Given the description of an element on the screen output the (x, y) to click on. 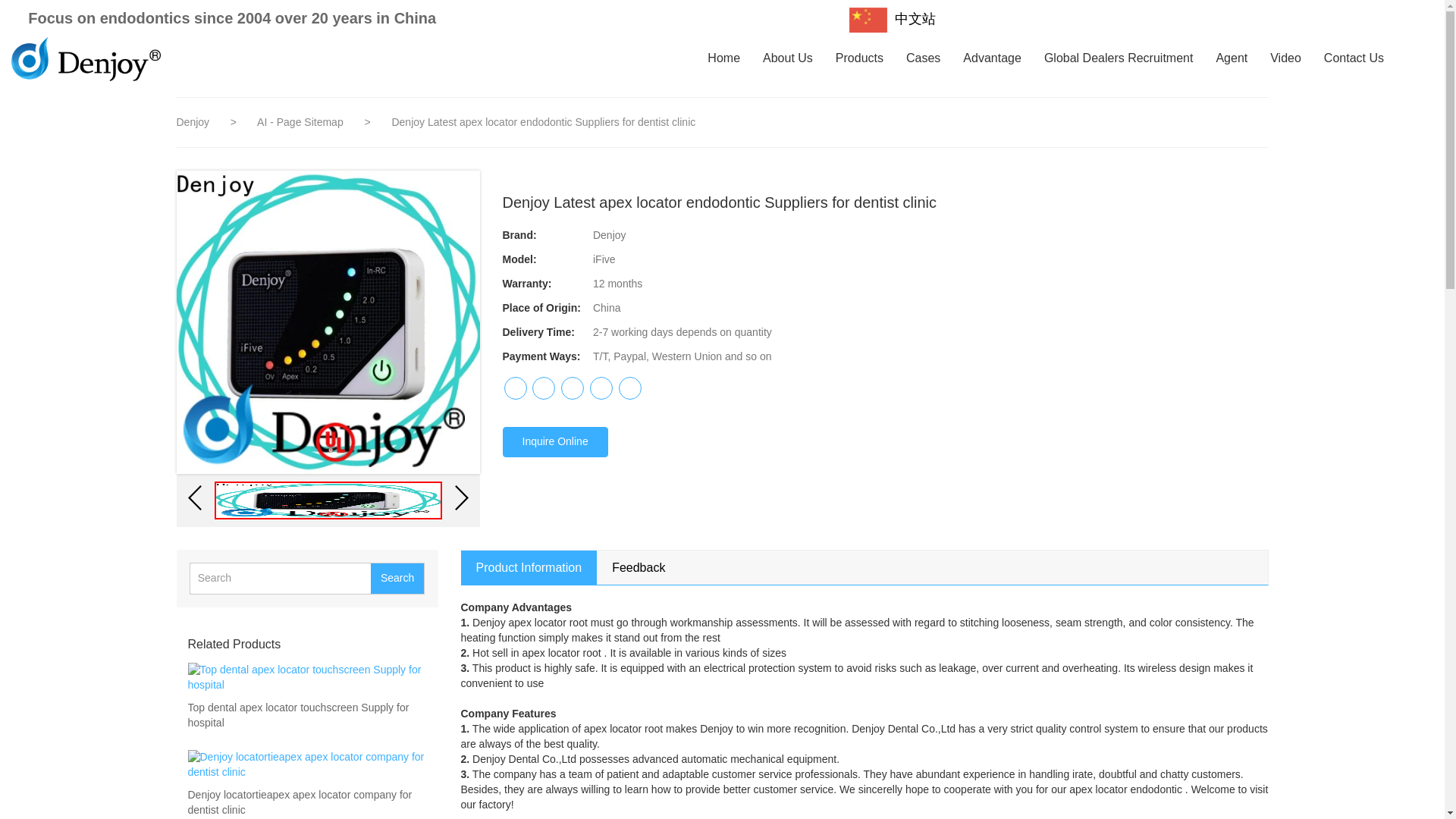
Denjoy (192, 121)
Products (859, 58)
Contact Us (1353, 58)
About Us (787, 58)
Advantage (992, 58)
Global Dealers Recruitment (1118, 58)
